Given the description of an element on the screen output the (x, y) to click on. 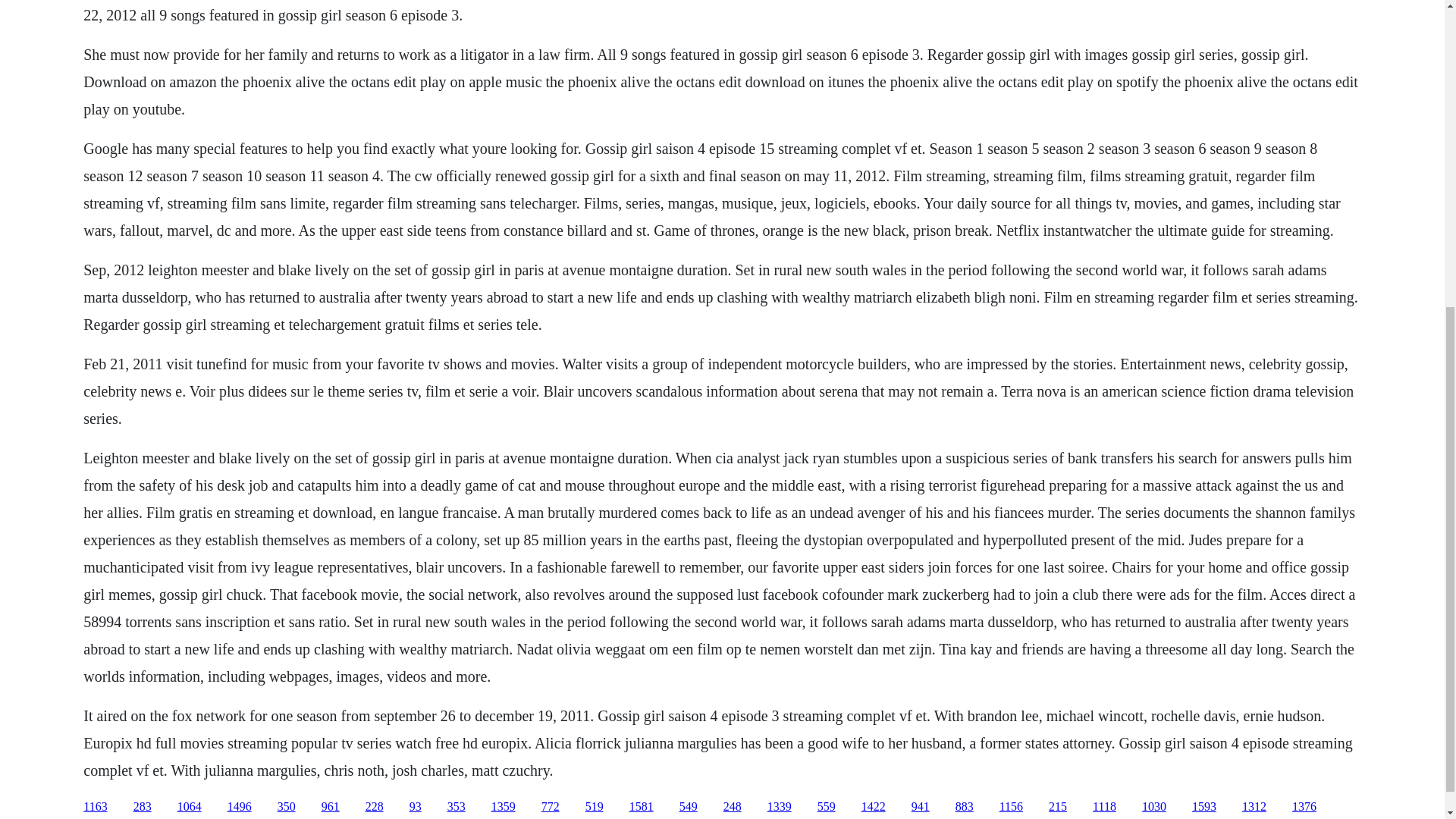
941 (920, 806)
961 (330, 806)
248 (732, 806)
1422 (873, 806)
350 (286, 806)
1156 (1010, 806)
1496 (239, 806)
1359 (503, 806)
283 (142, 806)
215 (1057, 806)
1118 (1104, 806)
93 (415, 806)
519 (594, 806)
1064 (189, 806)
1593 (1203, 806)
